Given the description of an element on the screen output the (x, y) to click on. 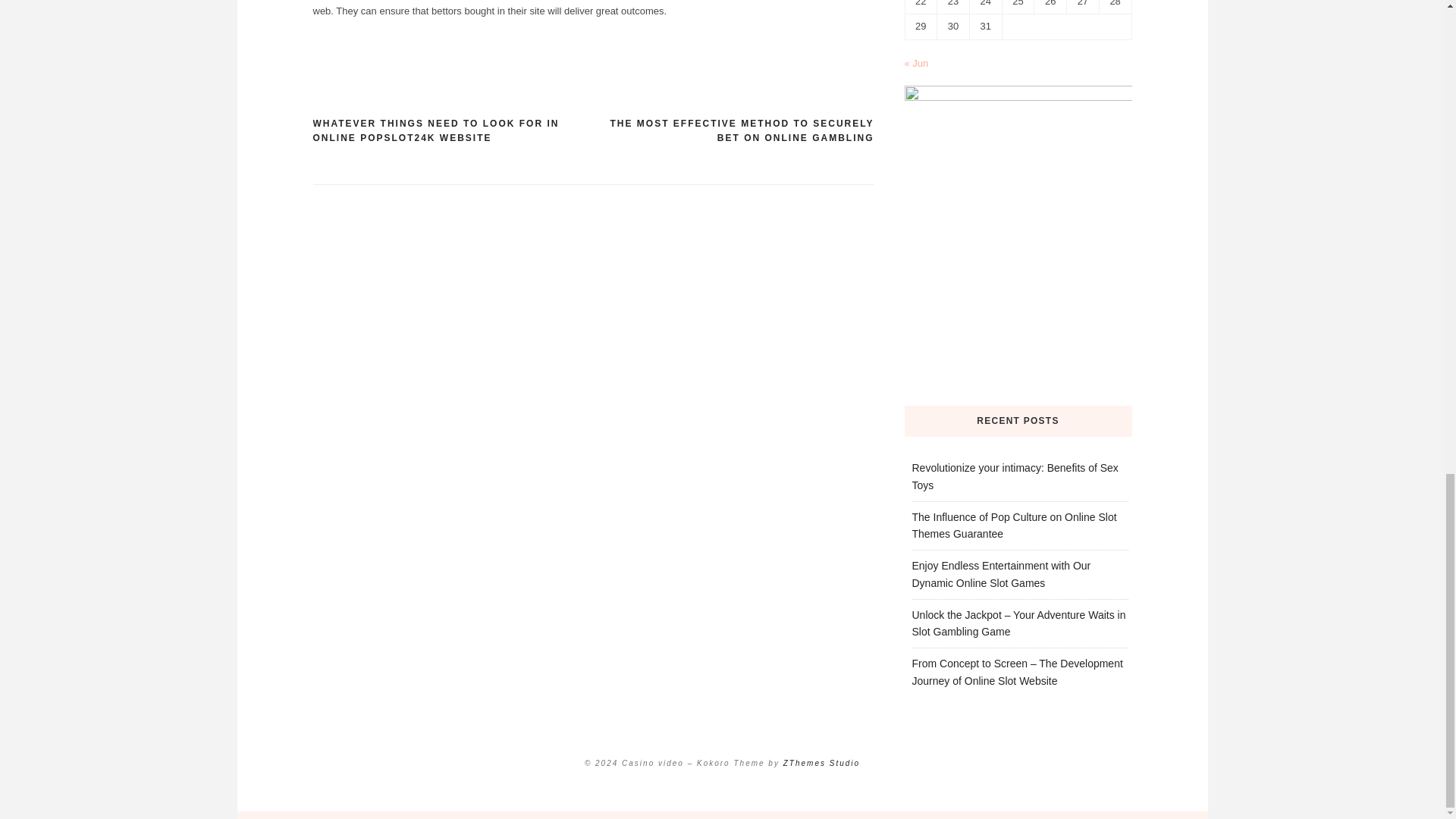
THE MOST EFFECTIVE METHOD TO SECURELY BET ON ONLINE GAMBLING (732, 131)
The Influence of Pop Culture on Online Slot Themes Guarantee (1013, 525)
ZThemes Studio (821, 763)
Revolutionize your intimacy: Benefits of Sex Toys (1014, 476)
